Given the description of an element on the screen output the (x, y) to click on. 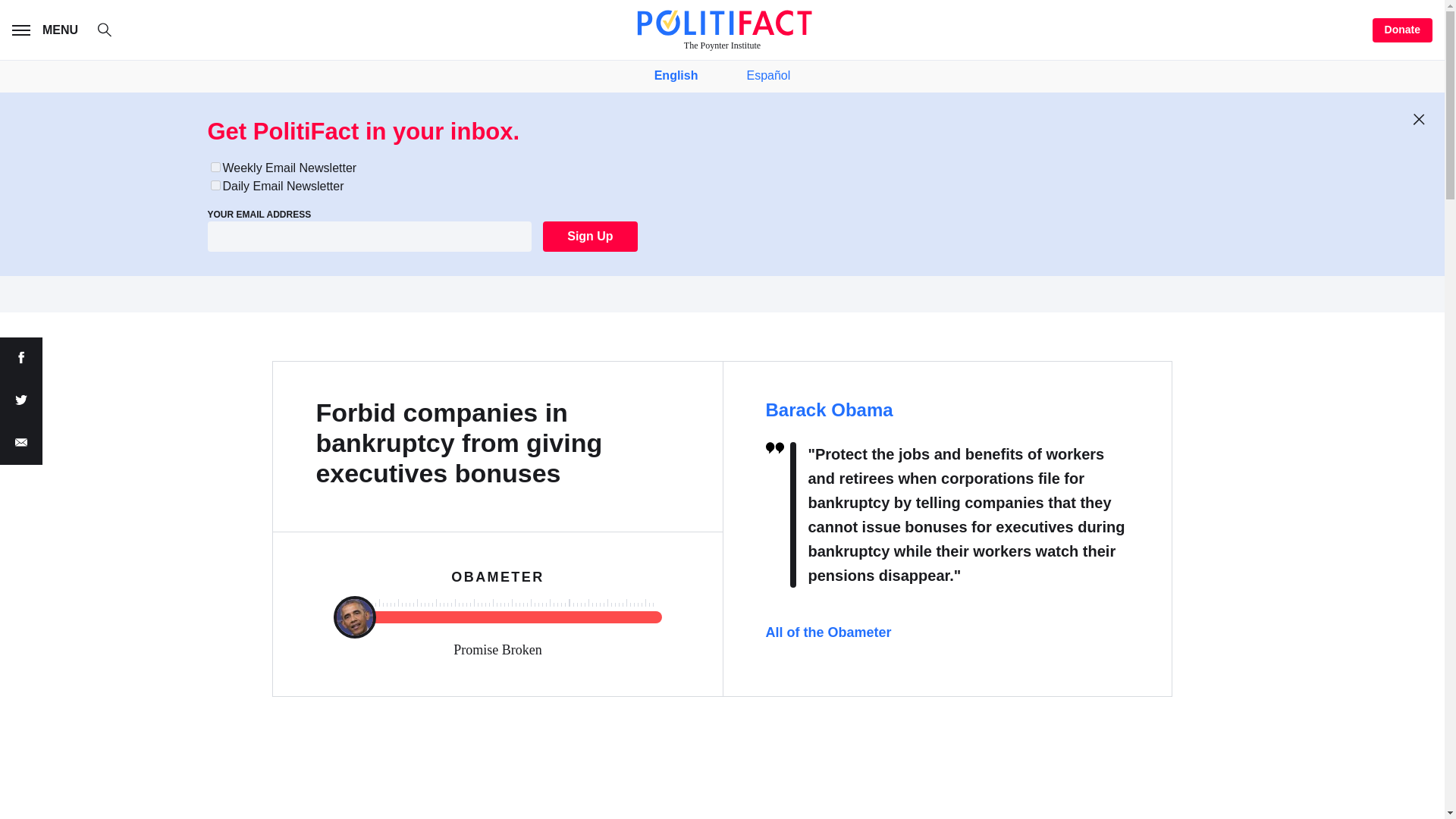
MENU (47, 30)
Search (111, 31)
Donate (1402, 30)
The Poynter Institute (721, 29)
